Given the description of an element on the screen output the (x, y) to click on. 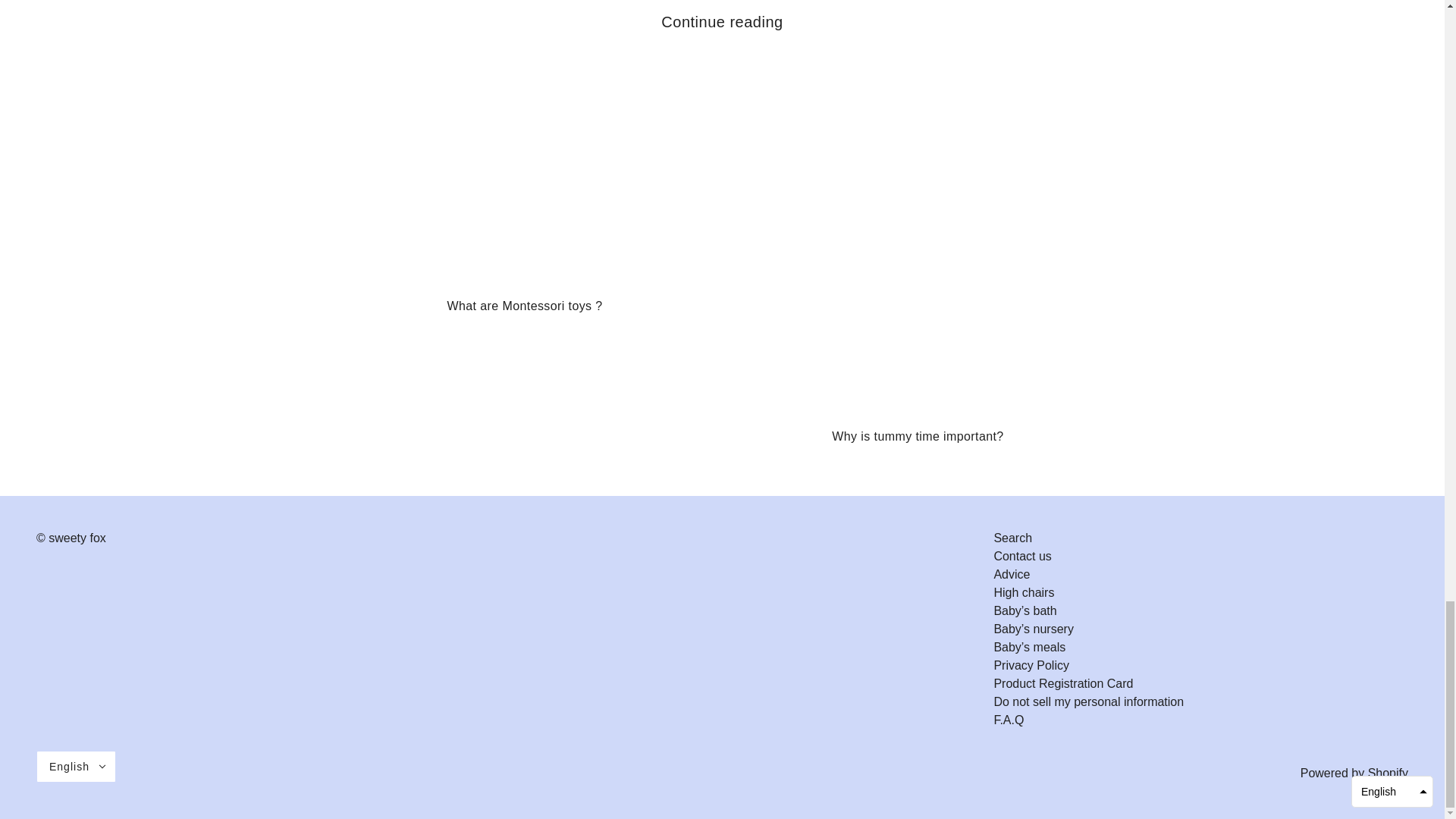
Powered by Shopify (1353, 772)
F.A.Q (1007, 719)
Do not sell my personal information (1087, 701)
High chairs (1023, 592)
Search (1012, 537)
What are Montessori toys ?  (526, 182)
Privacy Policy (1030, 665)
Contact us (1021, 555)
Privacy Policy (1030, 665)
